Given the description of an element on the screen output the (x, y) to click on. 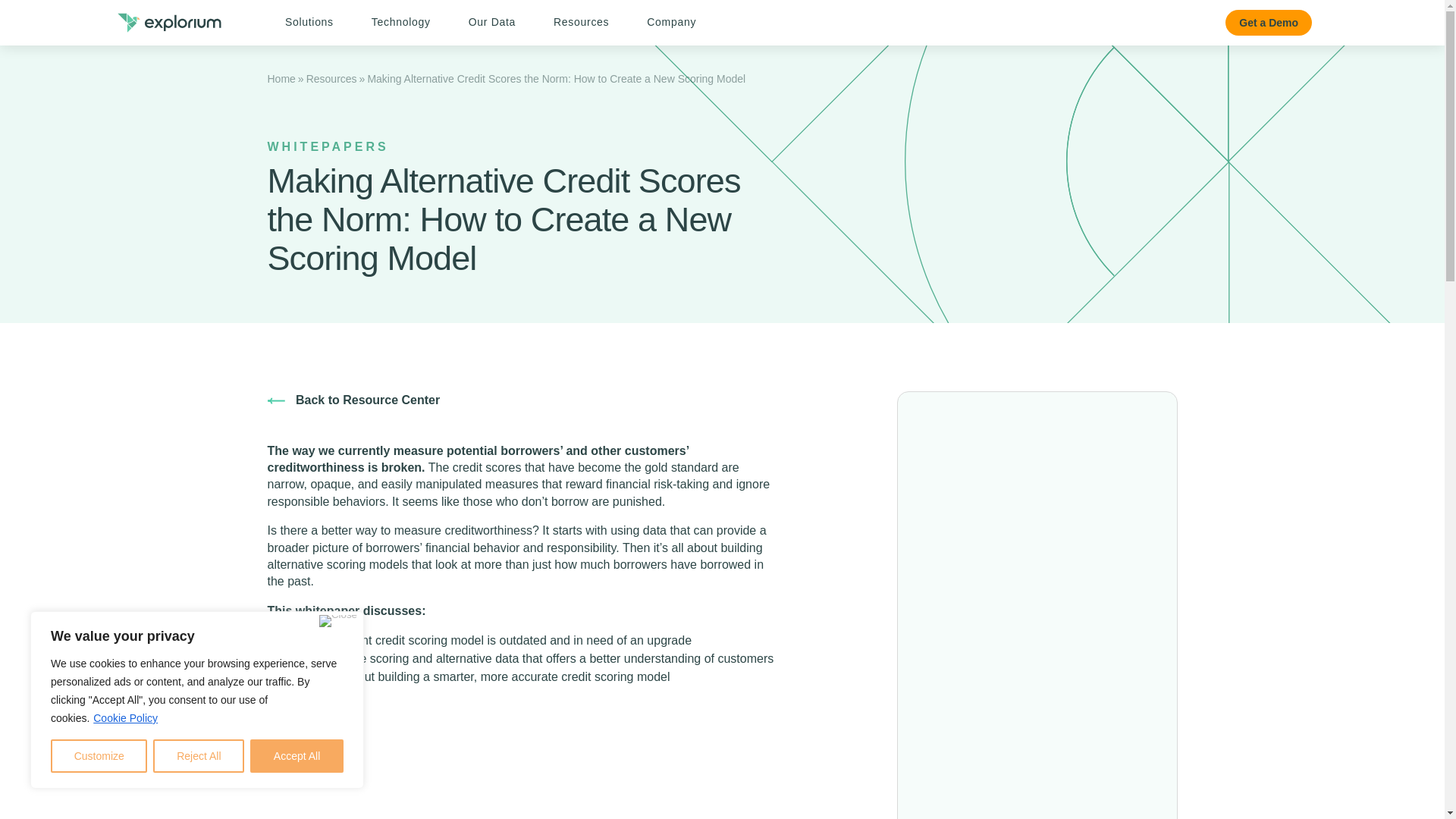
Reject All (198, 756)
Technology (400, 22)
Cookie Policy (125, 717)
Our Data (491, 22)
Resources (580, 22)
Accept All (296, 756)
Customize (98, 756)
Solutions (309, 22)
